Given the description of an element on the screen output the (x, y) to click on. 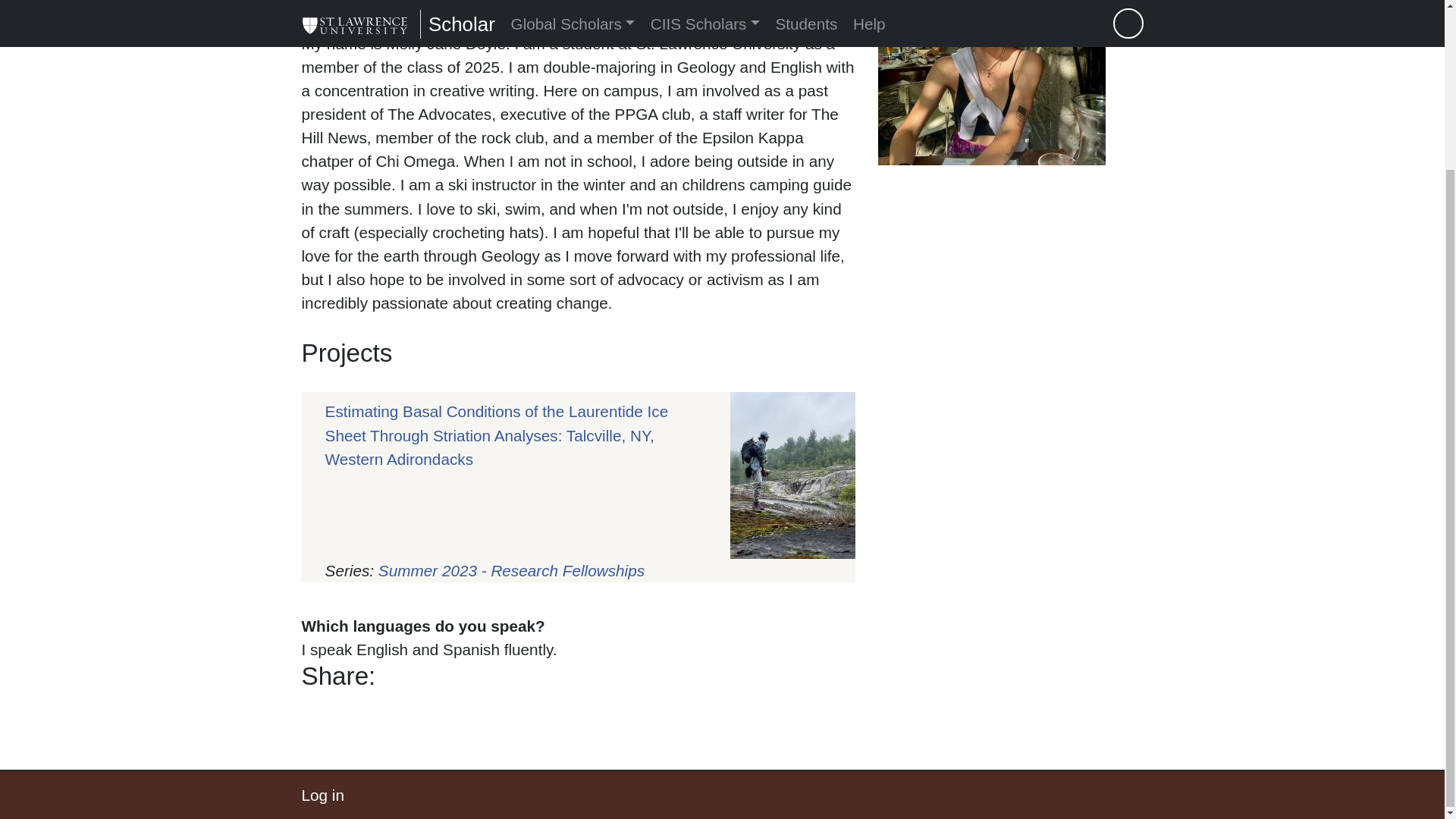
Log in (322, 794)
Geology (381, 2)
Summer 2023 - Research Fellowships (511, 570)
